Given the description of an element on the screen output the (x, y) to click on. 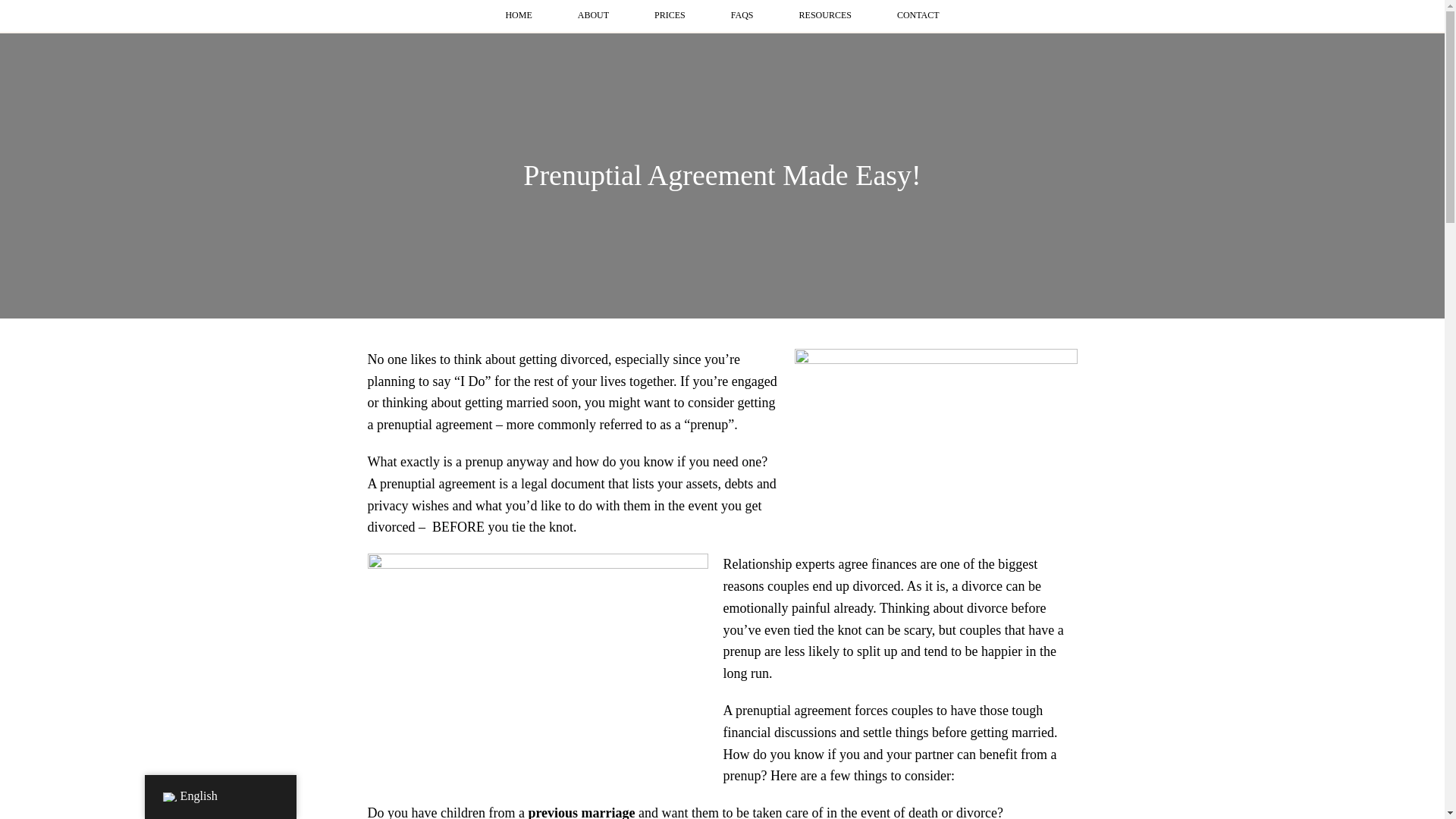
English (168, 796)
RESOURCES (825, 15)
CONTACT (918, 15)
ABOUT (592, 15)
HOME (517, 15)
FAQS (741, 15)
PRICES (669, 15)
